Given the description of an element on the screen output the (x, y) to click on. 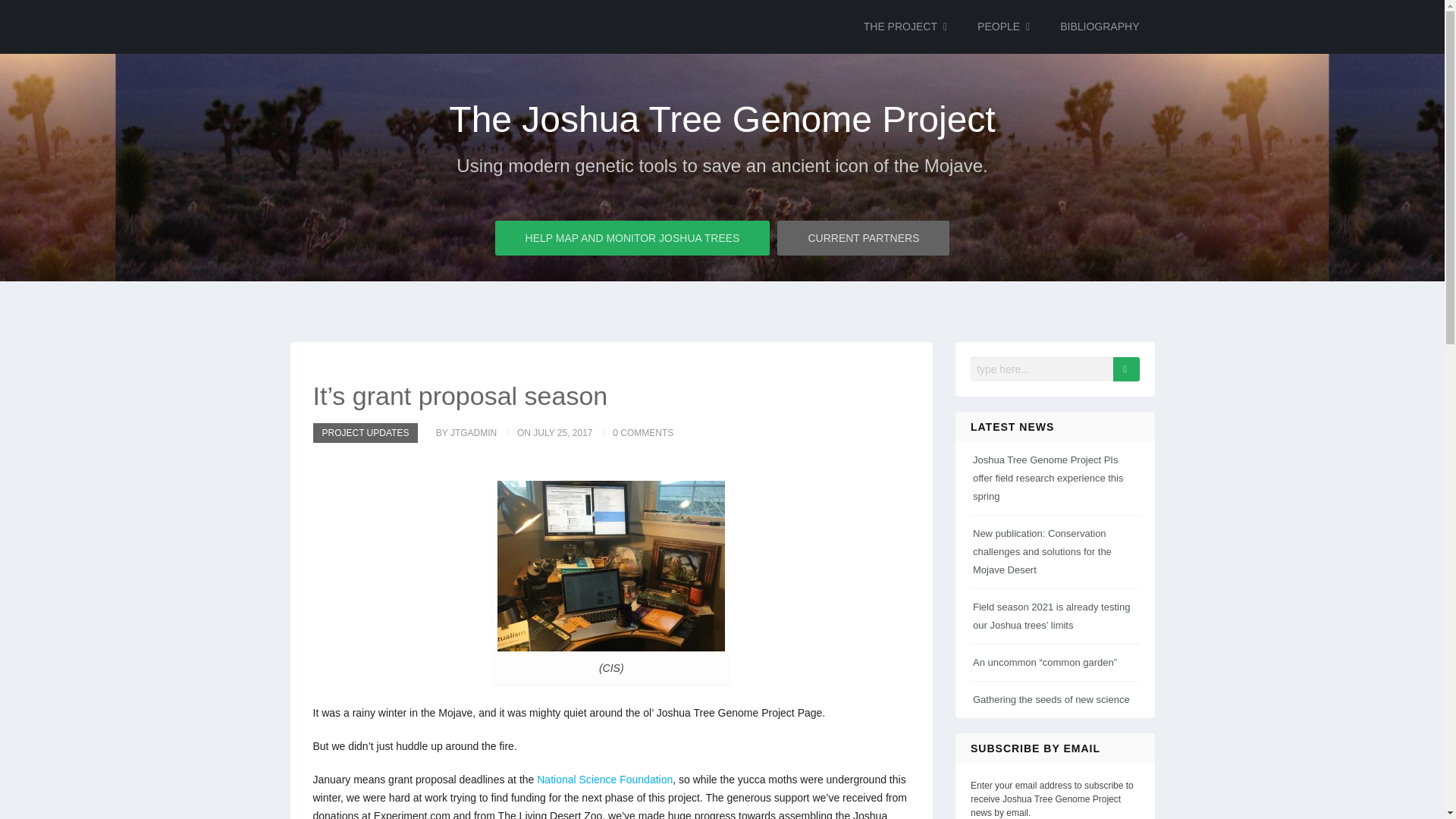
The Joshua Tree Genome Project (722, 119)
National Science Foundation (604, 779)
BY JTGADMIN (458, 433)
type here... (1043, 369)
THE PROJECT (904, 26)
BIBLIOGRAPHY (1099, 26)
find partner resources and upload data (863, 237)
Gathering the seeds of new science (1050, 699)
